Given the description of an element on the screen output the (x, y) to click on. 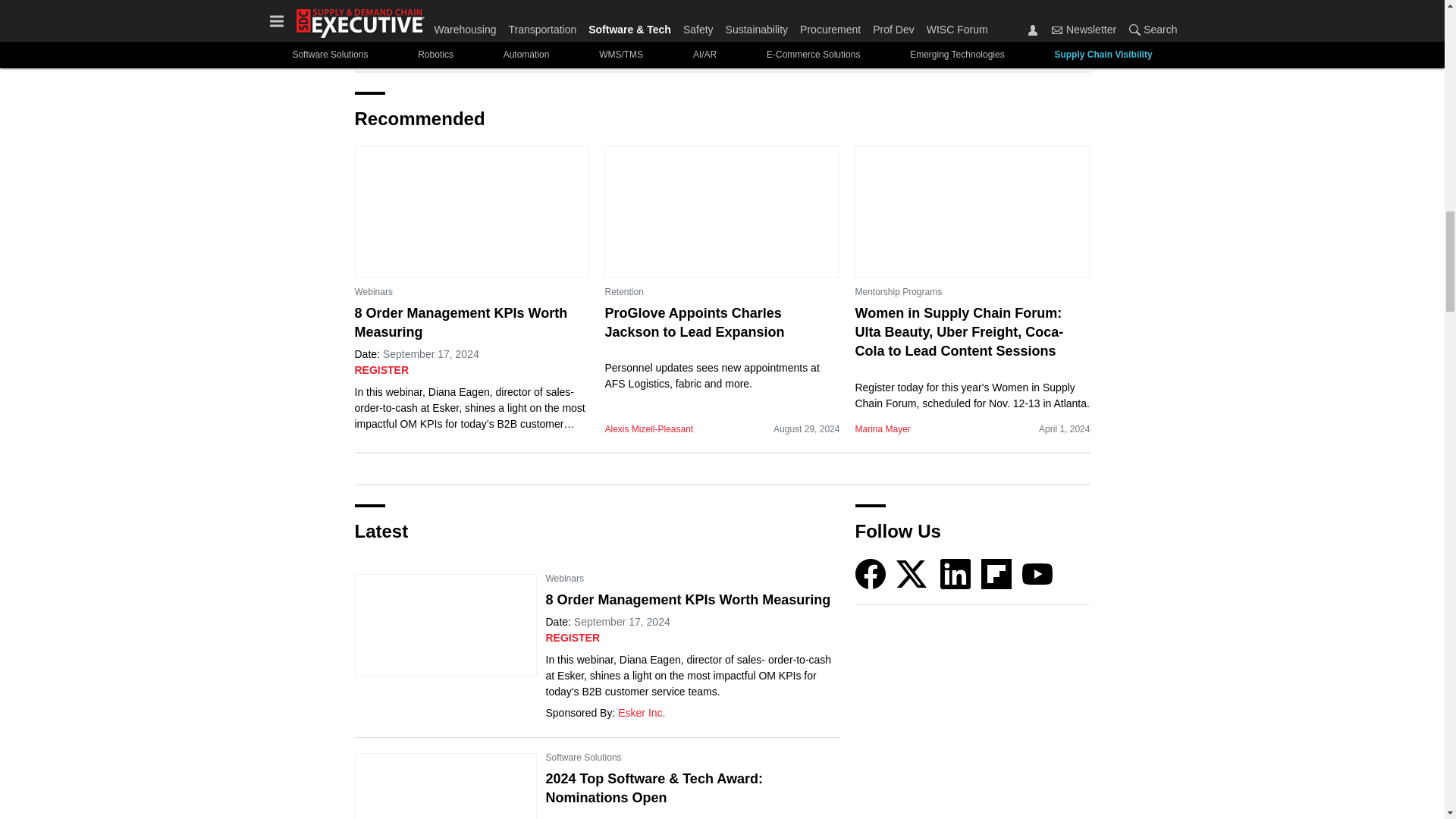
LinkedIn icon (955, 573)
Twitter X icon (911, 573)
YouTube icon (1037, 573)
Facebook icon (870, 573)
Webinars (564, 578)
Webinars (374, 291)
Flipboard icon (996, 573)
